Given the description of an element on the screen output the (x, y) to click on. 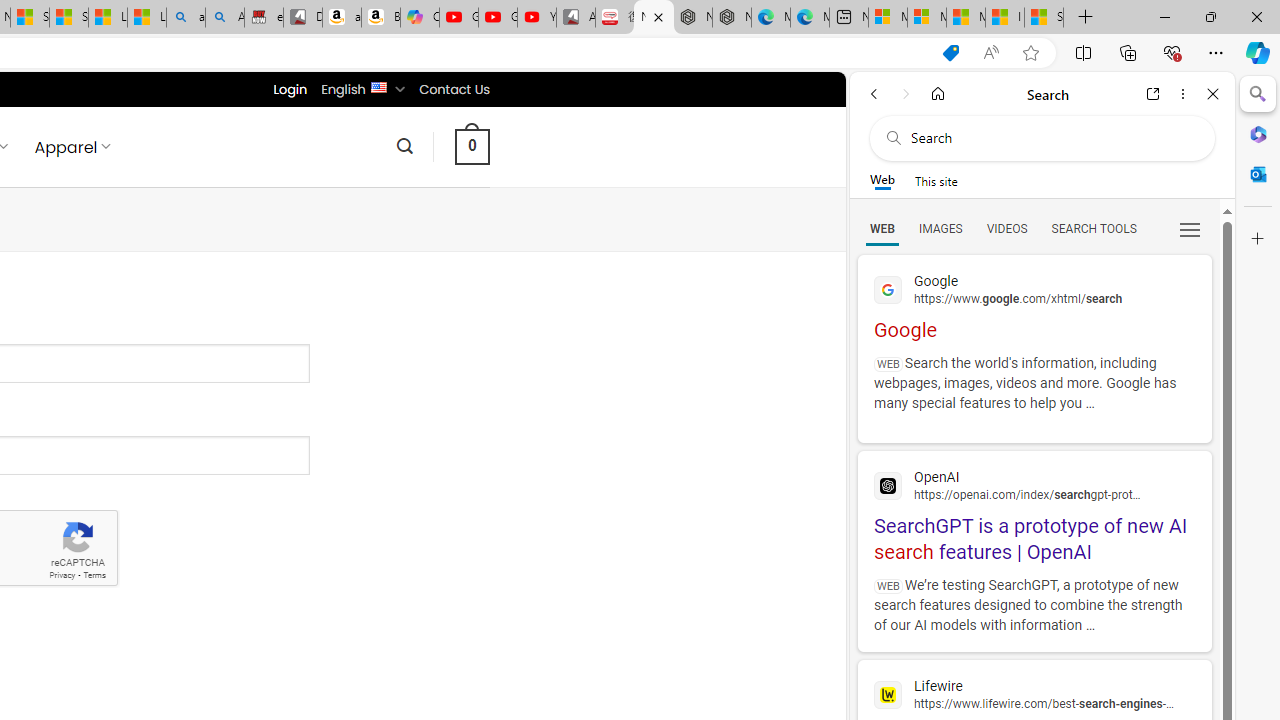
Preferences (1189, 228)
  0   (472, 146)
WEB   (882, 228)
This site scope (936, 180)
SearchGPT is a prototype of new AI search features | OpenAI (1034, 513)
Search Filter, IMAGES (939, 228)
Open link in new tab (1153, 93)
